Given the description of an element on the screen output the (x, y) to click on. 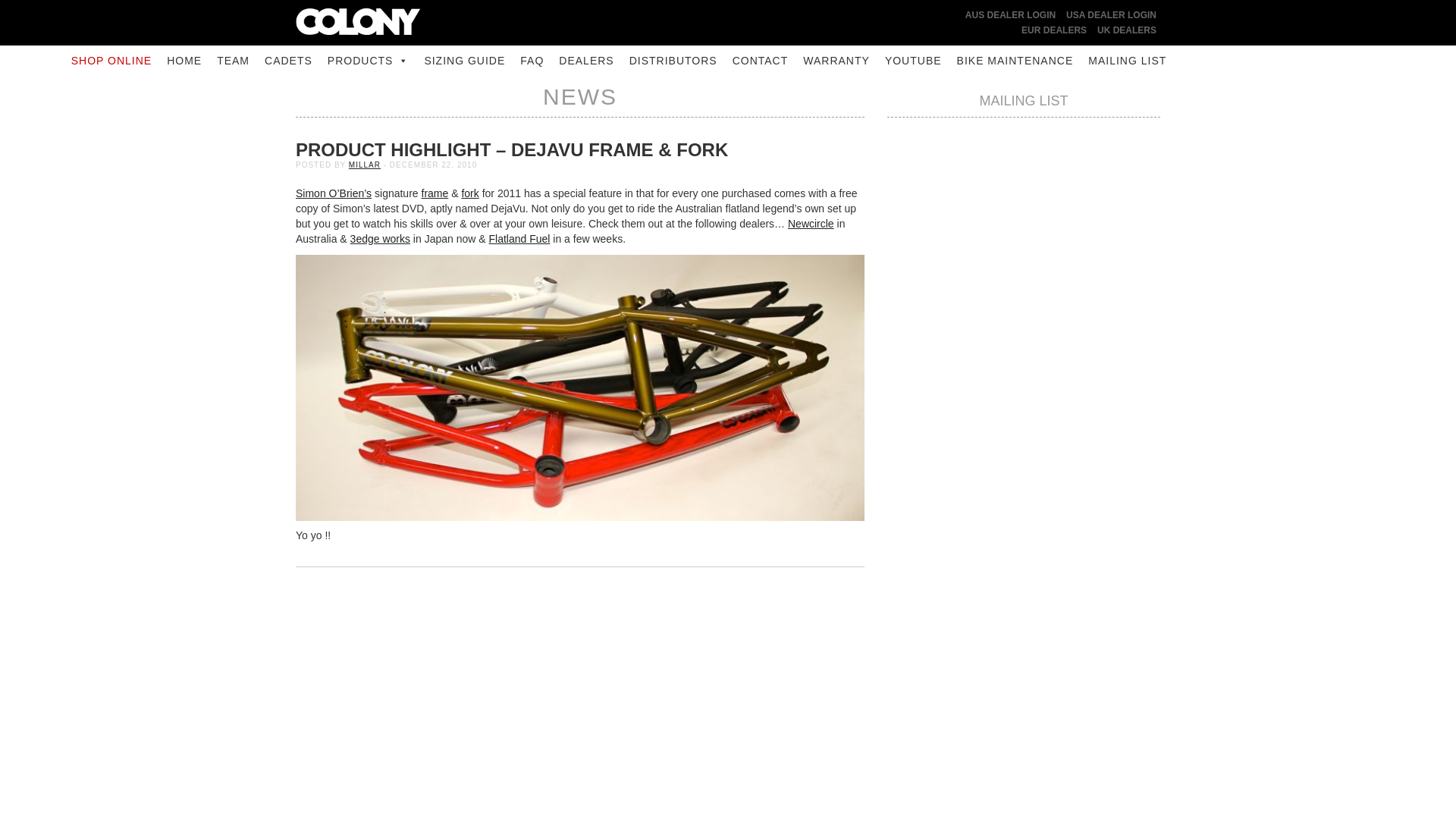
USA DEALER LOGIN (1110, 14)
AUS DEALER LOGIN (1010, 14)
EUR DEALERS (1054, 30)
SIZING GUIDE (464, 60)
CADETS (288, 60)
TEAM (233, 60)
UK DEALERS (1126, 30)
HOME (183, 60)
FAQ (531, 60)
